Given the description of an element on the screen output the (x, y) to click on. 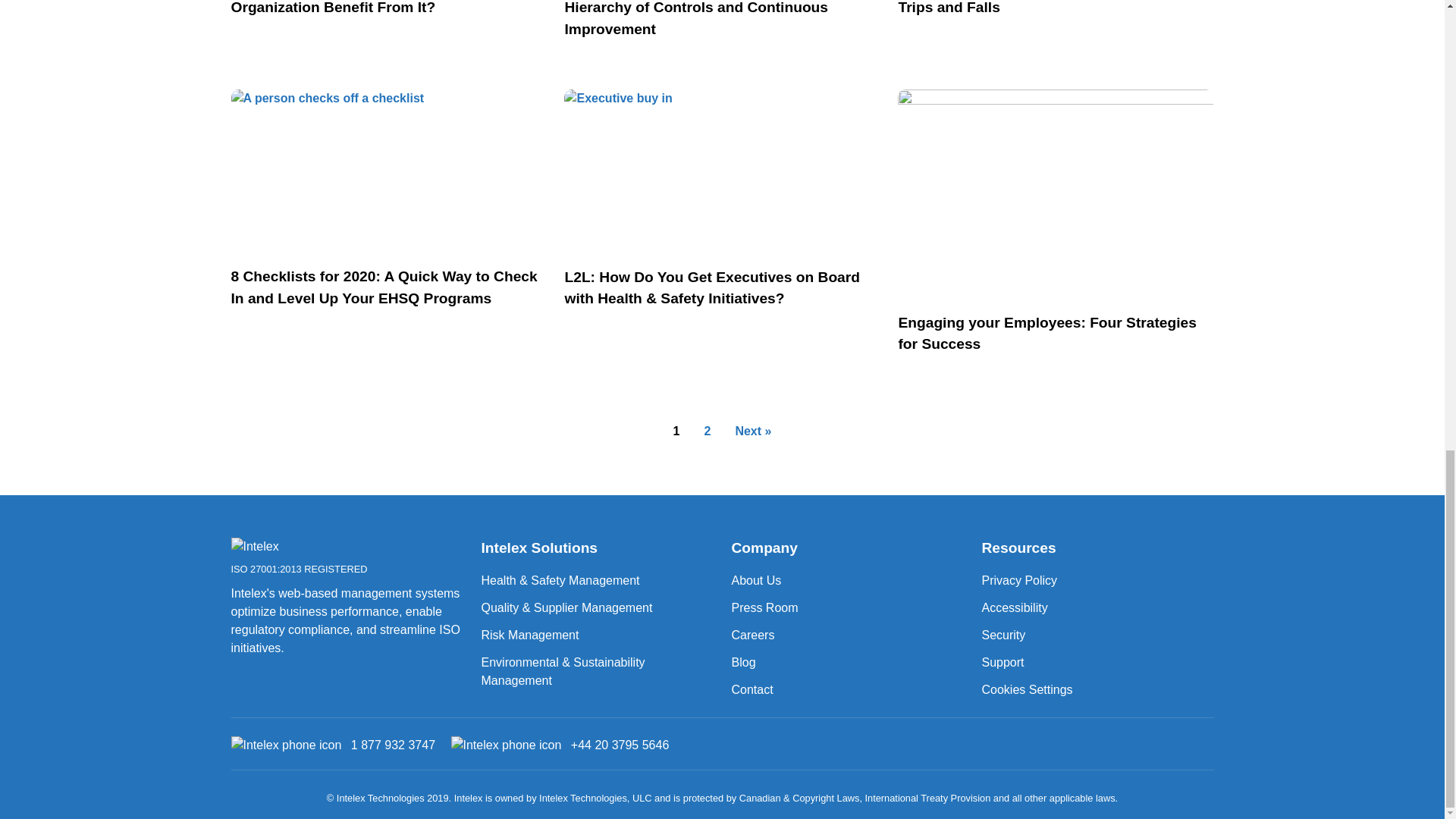
Engaging your Employees: Four Strategies for Success (291, 548)
